Given the description of an element on the screen output the (x, y) to click on. 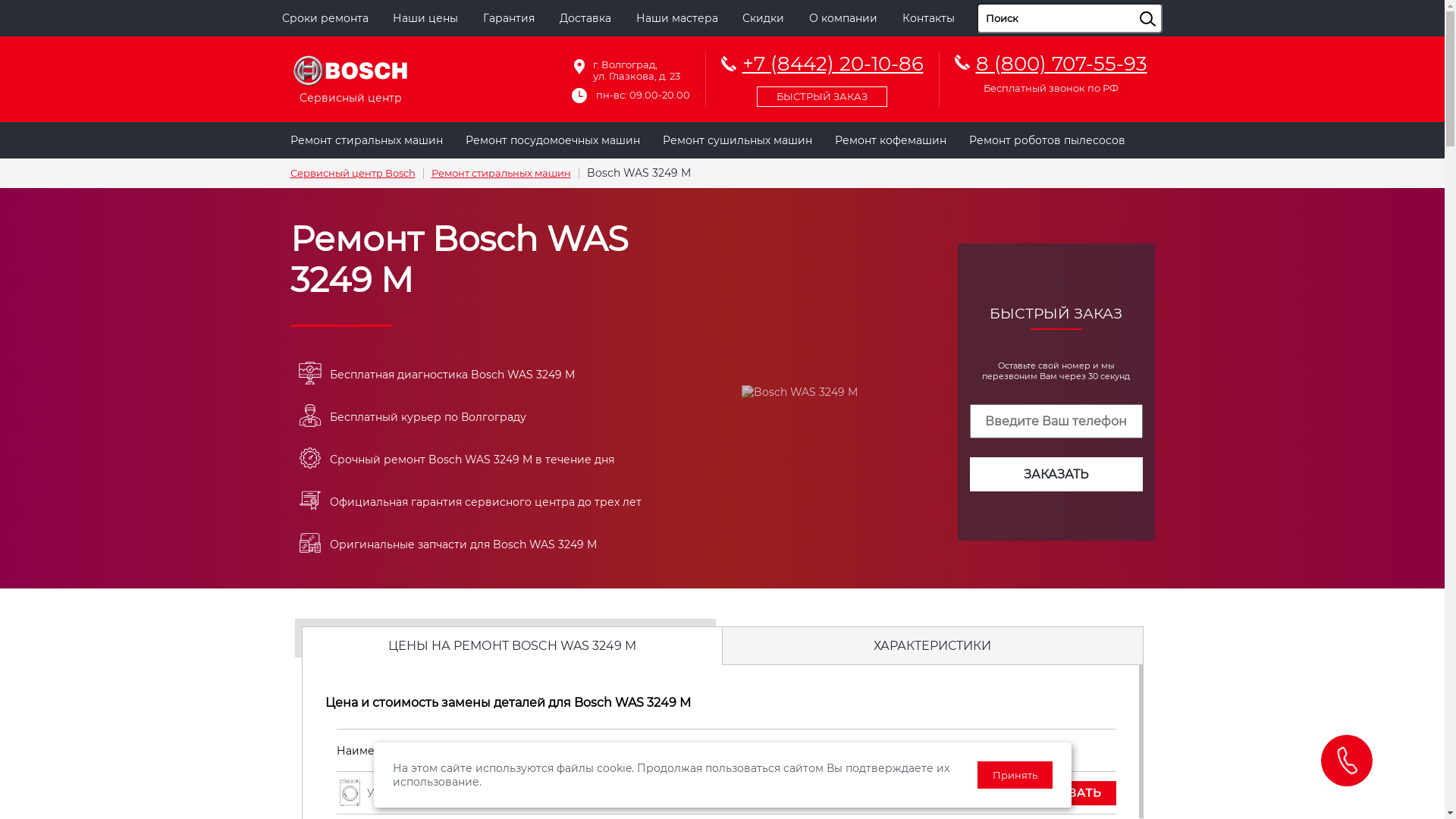
+7 (8442) 20-10-86 Element type: text (821, 77)
8 (800) 707-55-93 Element type: text (1060, 63)
sisea.search Element type: text (1165, 3)
